Given the description of an element on the screen output the (x, y) to click on. 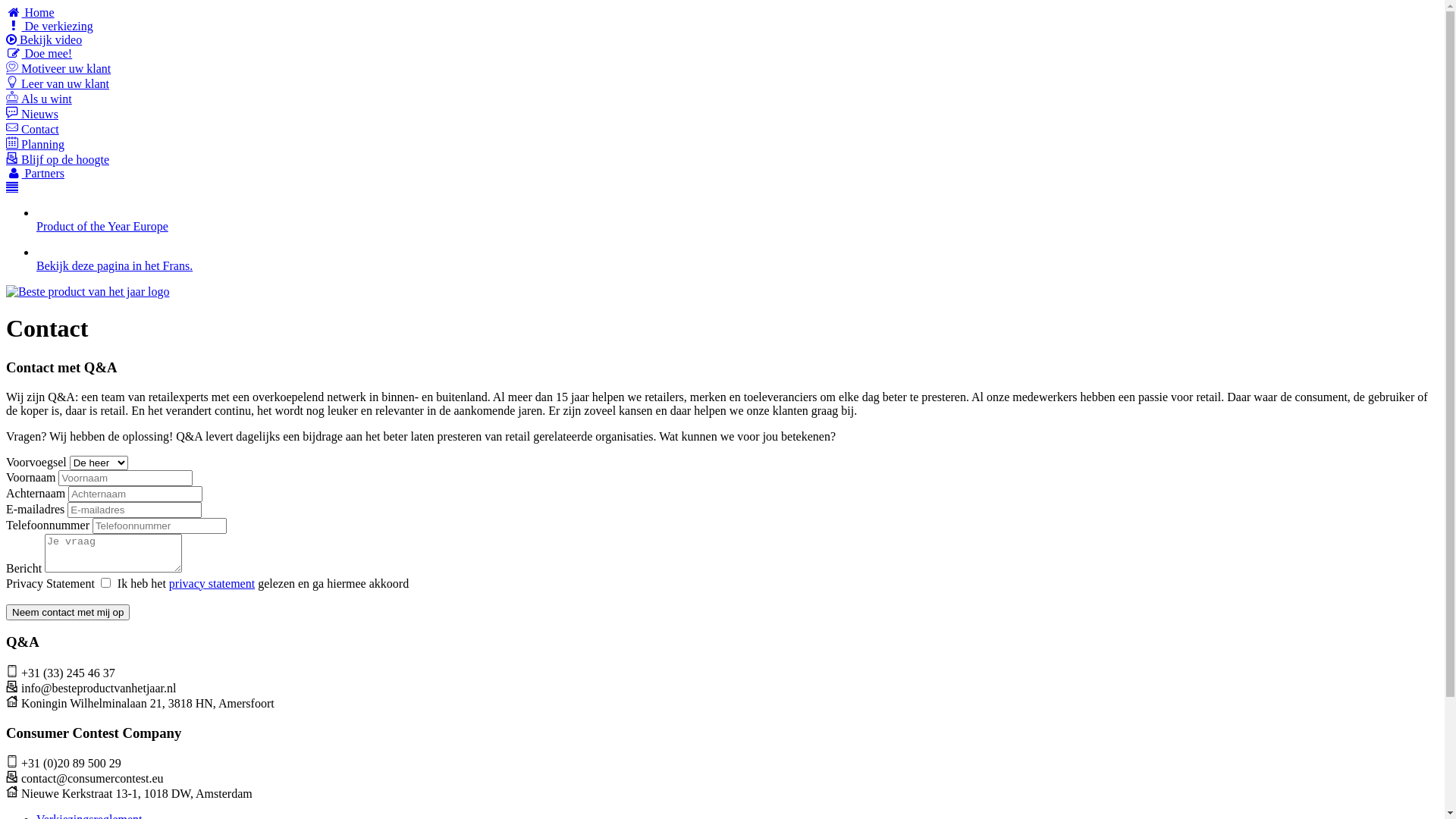
Leer van uw klant Element type: text (722, 83)
Bekijk deze pagina in het Frans. Element type: text (114, 265)
Planning Element type: text (722, 143)
Product of the Year Europe Element type: text (102, 225)
Neem contact met mij op Element type: text (67, 612)
privacy statement Element type: text (211, 583)
Home Element type: text (722, 12)
Blijf op de hoogte Element type: text (722, 158)
Nieuws Element type: text (722, 113)
Doe mee! Element type: text (722, 53)
De verkiezing Element type: text (722, 26)
Motiveer uw klant Element type: text (722, 67)
Als u wint Element type: text (722, 98)
Contact Element type: text (722, 128)
Bekijk video Element type: text (722, 40)
Partners Element type: text (722, 173)
